Given the description of an element on the screen output the (x, y) to click on. 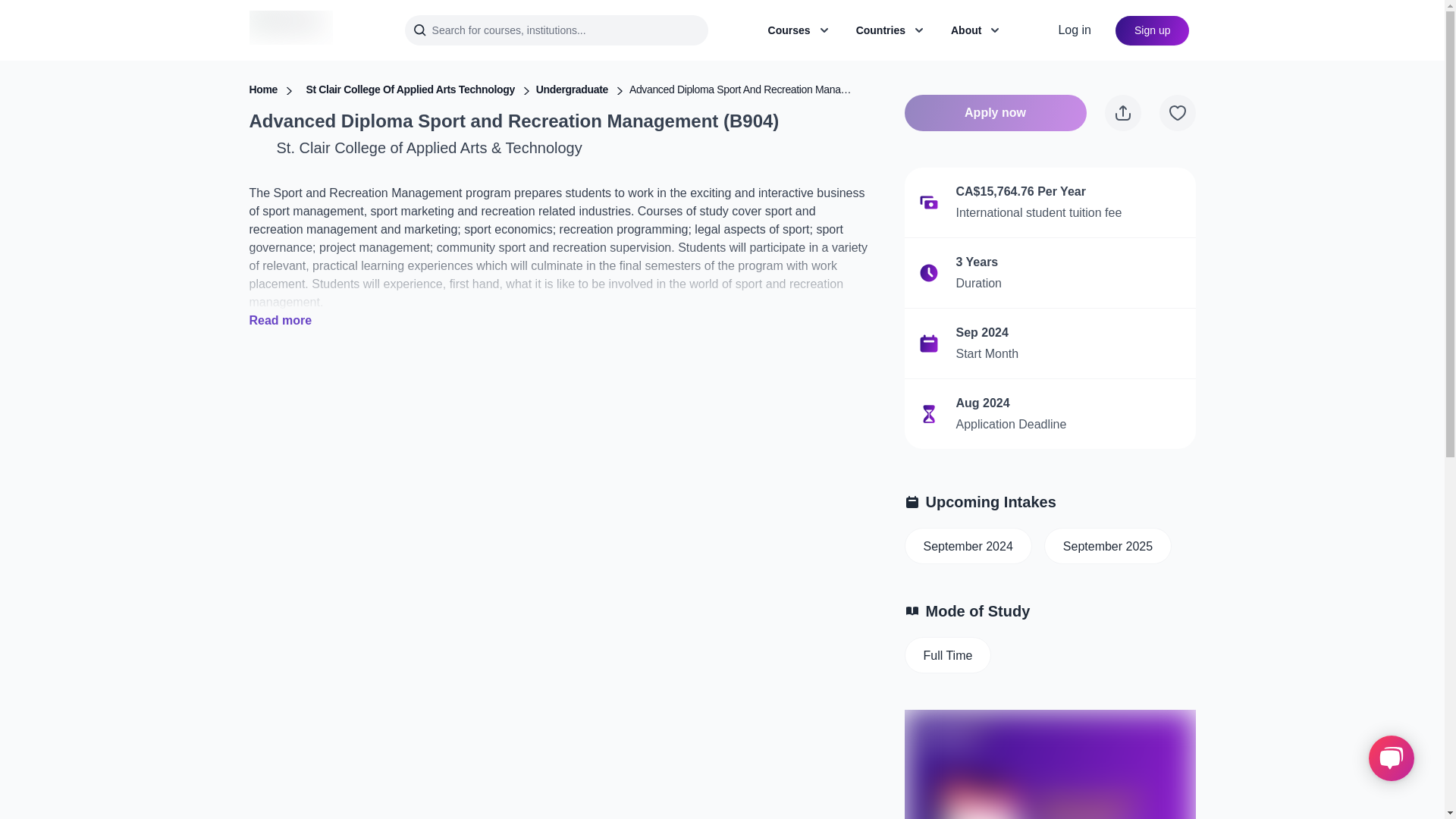
Log in (1074, 30)
Advanced Diploma Sport And Recreation Management B 904 (742, 89)
St Clair College Of Applied Arts Technology (410, 89)
St Clair College Of Applied Arts Technology (410, 89)
Undergraduate (571, 89)
Home (263, 89)
Sign up (1152, 30)
en-edvoy (289, 29)
Home (263, 89)
Undergraduate (571, 89)
Apply now (995, 113)
Advanced Diploma Sport And Recreation Management B 904 (742, 89)
